Given the description of an element on the screen output the (x, y) to click on. 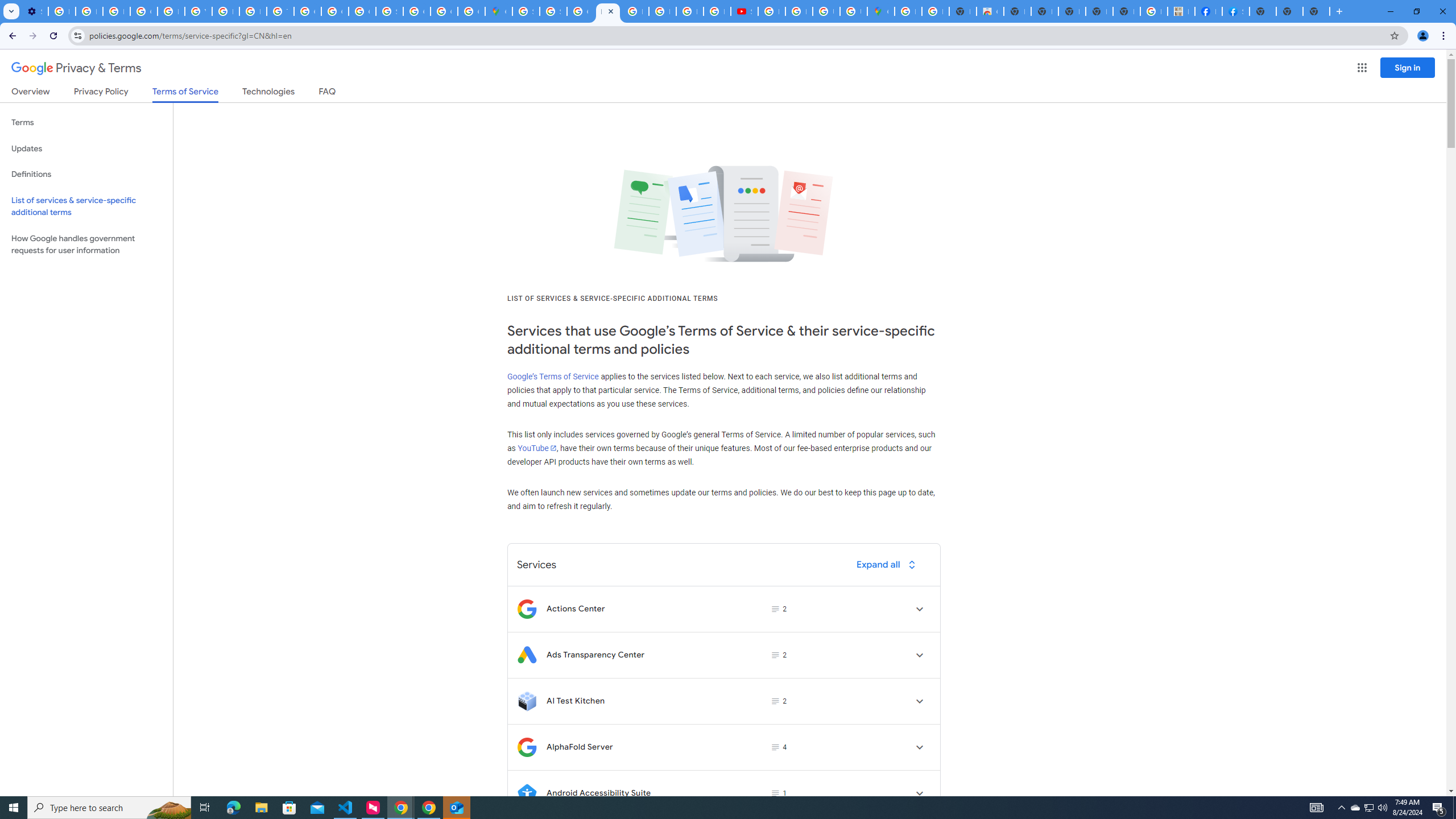
Logo for Ads Transparency Center (526, 654)
New Tab (1262, 11)
Privacy Help Center - Policies Help (690, 11)
Logo for AI Test Kitchen (526, 700)
